Given the description of an element on the screen output the (x, y) to click on. 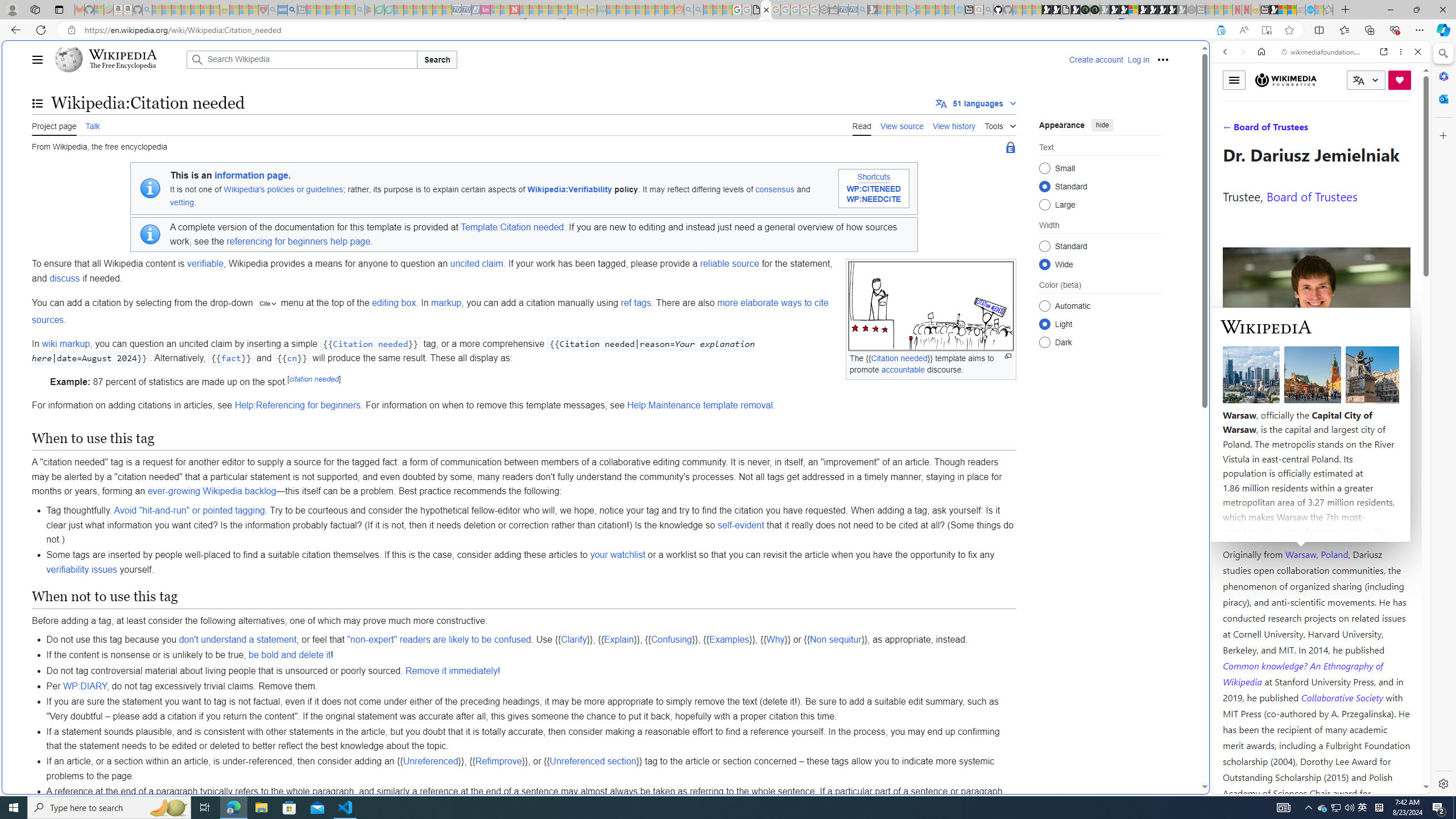
Support Wikipedia? (1220, 29)
Read (861, 124)
verifiable (205, 262)
Help:Referencing for beginners (297, 405)
wikimediafoundation.org (1323, 51)
Class: mw-list-item mw-list-item-js (1100, 323)
